Given the description of an element on the screen output the (x, y) to click on. 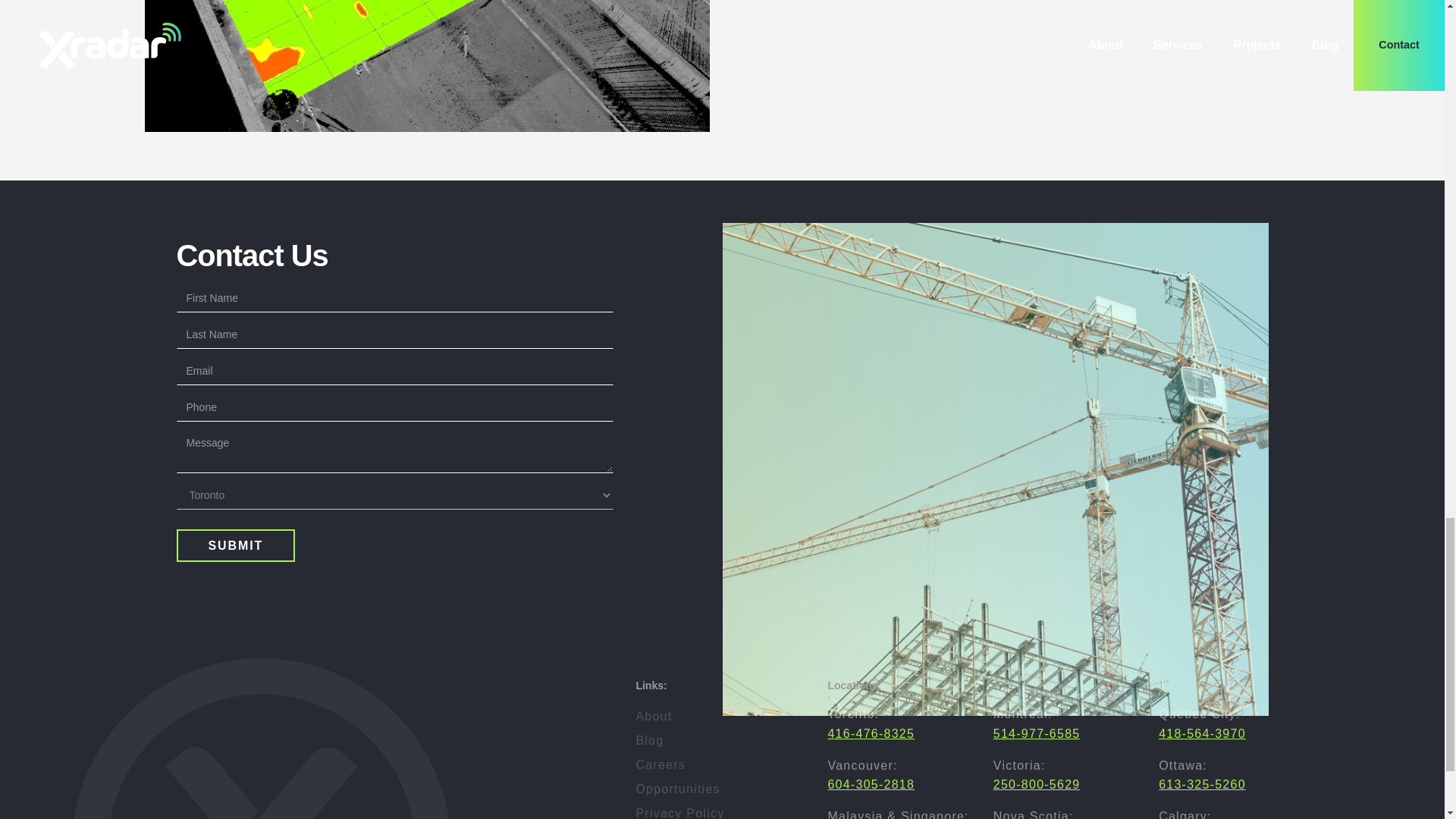
Blog (709, 740)
Submit (235, 545)
Careers (709, 764)
Opportunities (709, 789)
Submit (235, 545)
About (709, 716)
